Given the description of an element on the screen output the (x, y) to click on. 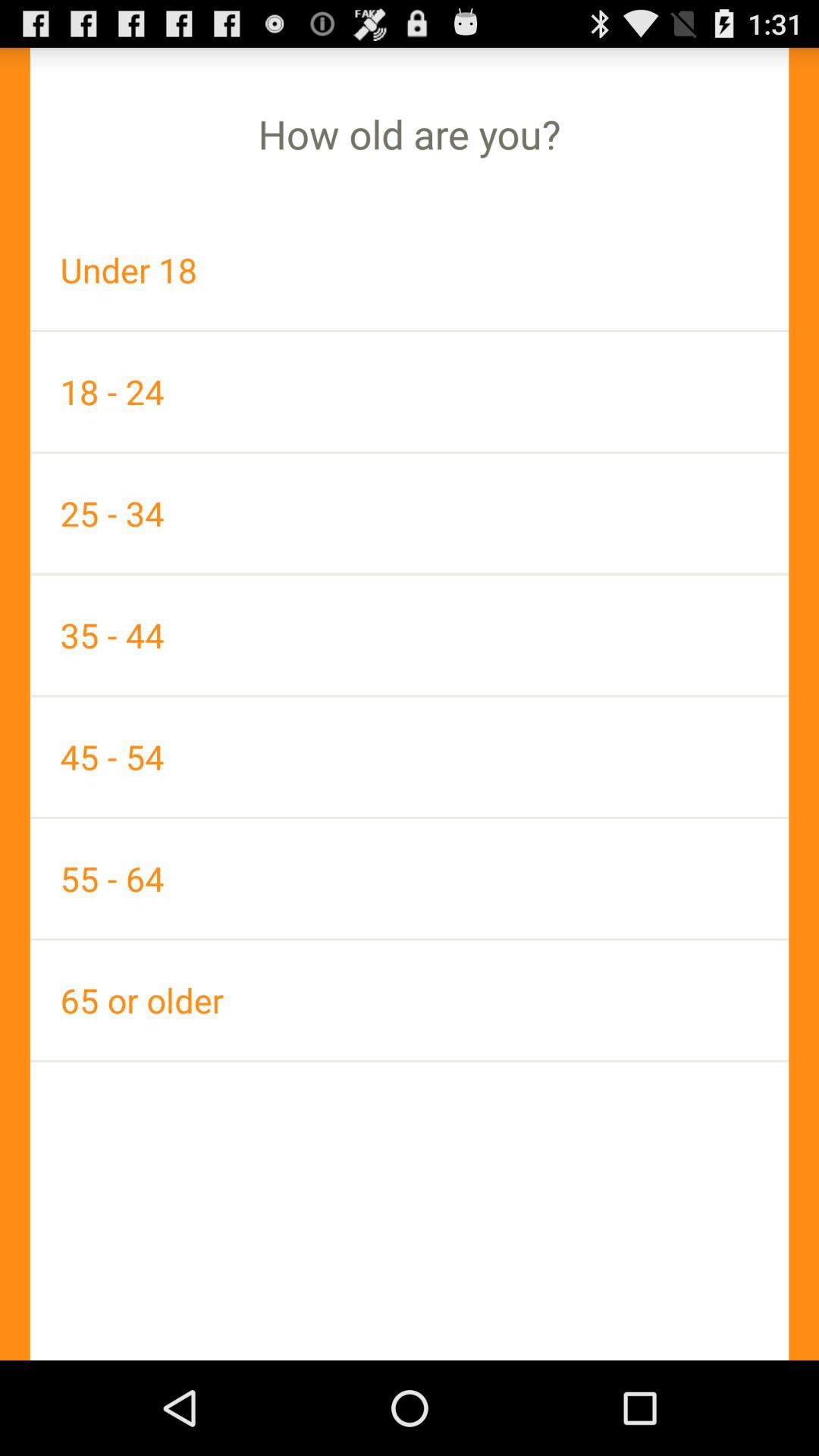
turn off 45 - 54 app (409, 756)
